Given the description of an element on the screen output the (x, y) to click on. 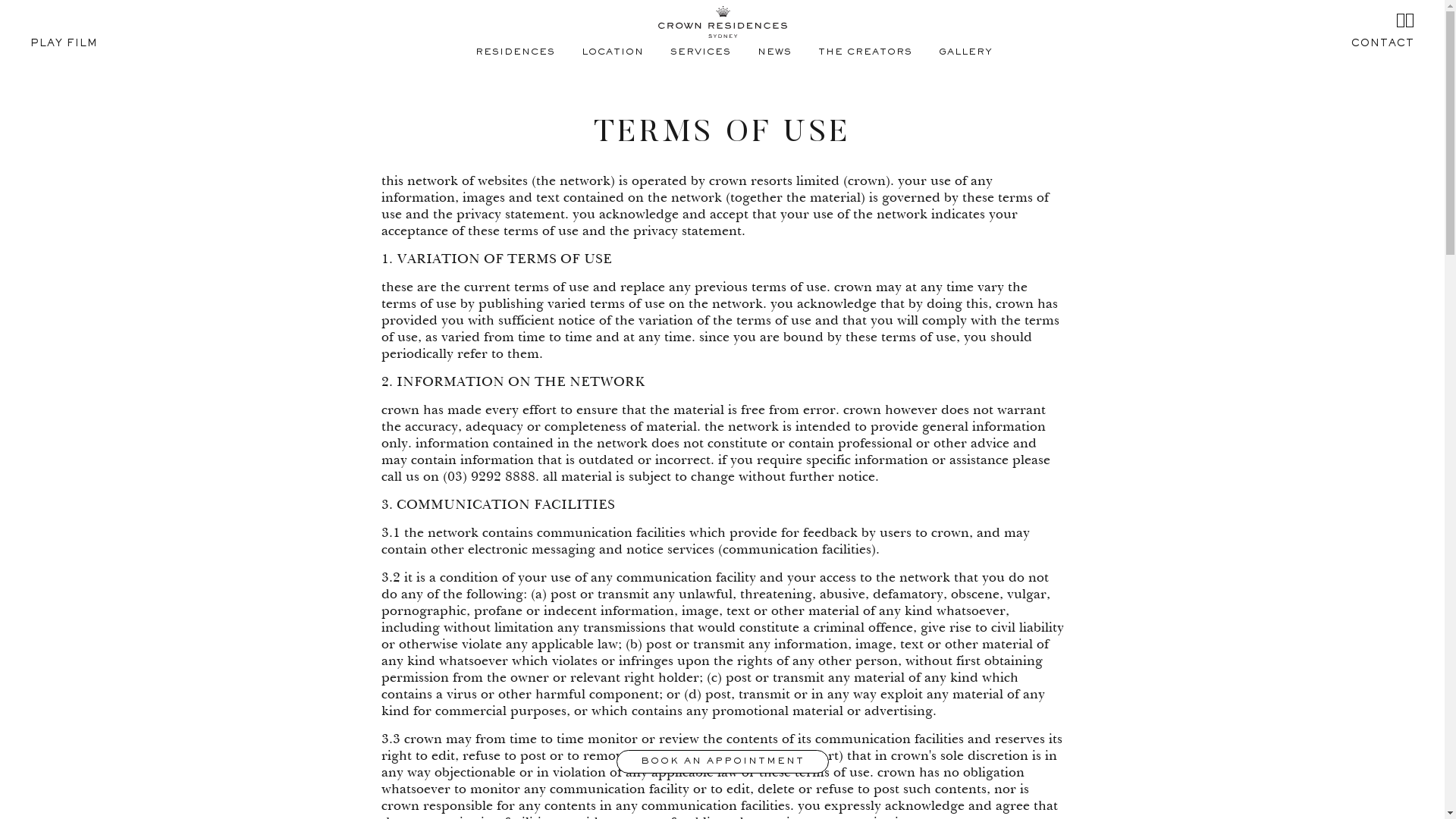
GALLERY Element type: text (965, 52)
DISCLAIMER Element type: text (404, 788)
KNIGHT FRANK PRIVACY POLICY Element type: text (661, 788)
VIEW PROJECT WEBSITE Element type: text (722, 757)
(+61) 409 325 700 Element type: text (722, 674)
CROWN RESORTS PRIVACY POLICY Element type: text (839, 788)
NEWS Element type: text (773, 52)
THE CREATORS Element type: text (864, 52)
SERVICES Element type: text (700, 52)
TERMS AND CONDITIONS Element type: text (508, 788)
CONTACT Element type: text (1382, 45)
BOOK AN APPOINTMENT Element type: text (721, 761)
ENQUIRE NOW Element type: text (722, 649)
RESIDENCES Element type: text (514, 52)
LOCATION Element type: text (611, 52)
